Given the description of an element on the screen output the (x, y) to click on. 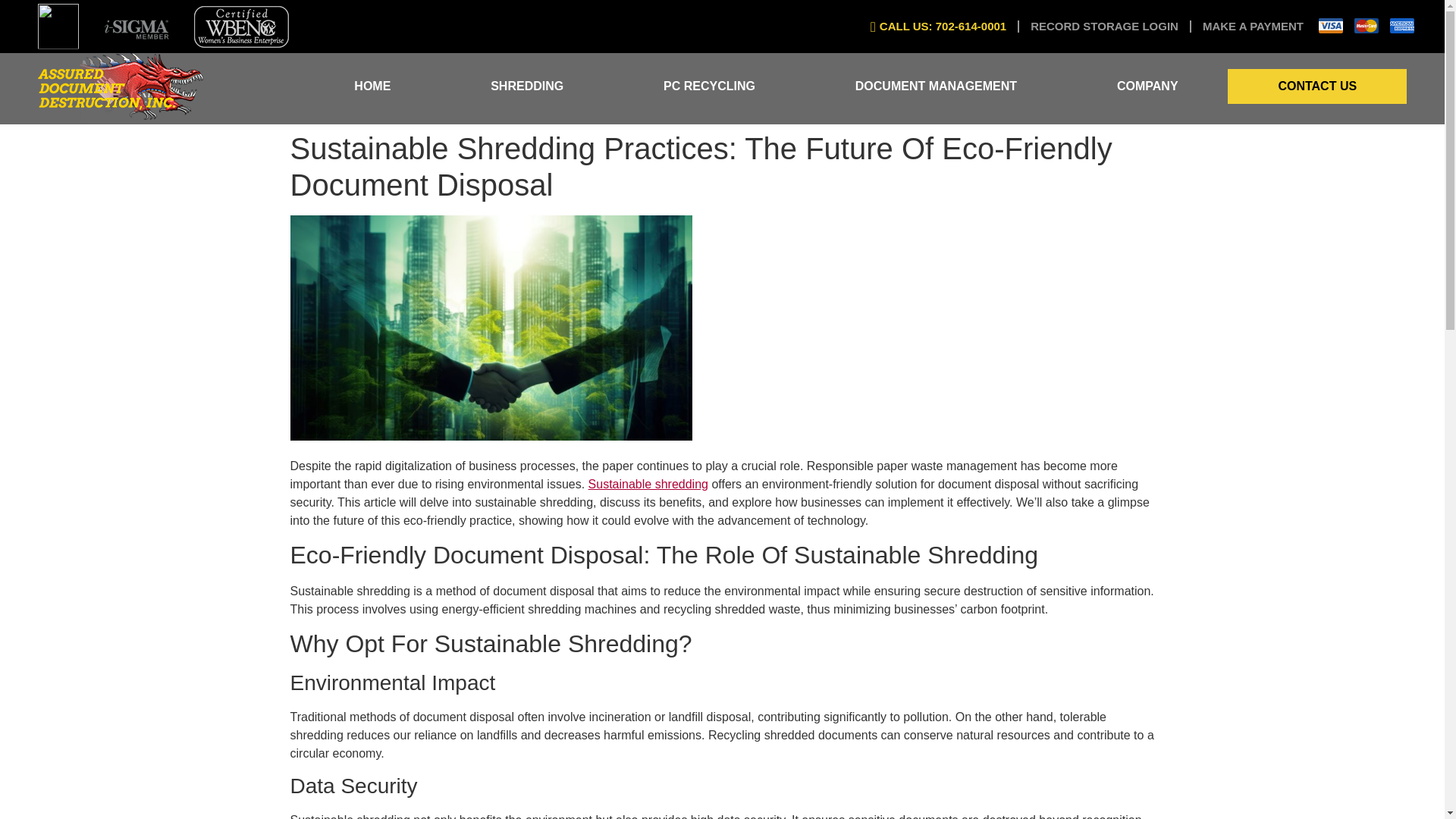
PC RECYCLING (708, 86)
SHREDDING (526, 86)
DOCUMENT MANAGEMENT (936, 86)
RECORD STORAGE LOGIN (1103, 27)
CALL US: 702-614-0001 (931, 27)
HOME (372, 86)
MAKE A PAYMENT (1252, 27)
COMPANY (1147, 86)
I-SIGMA logo (136, 26)
